Given the description of an element on the screen output the (x, y) to click on. 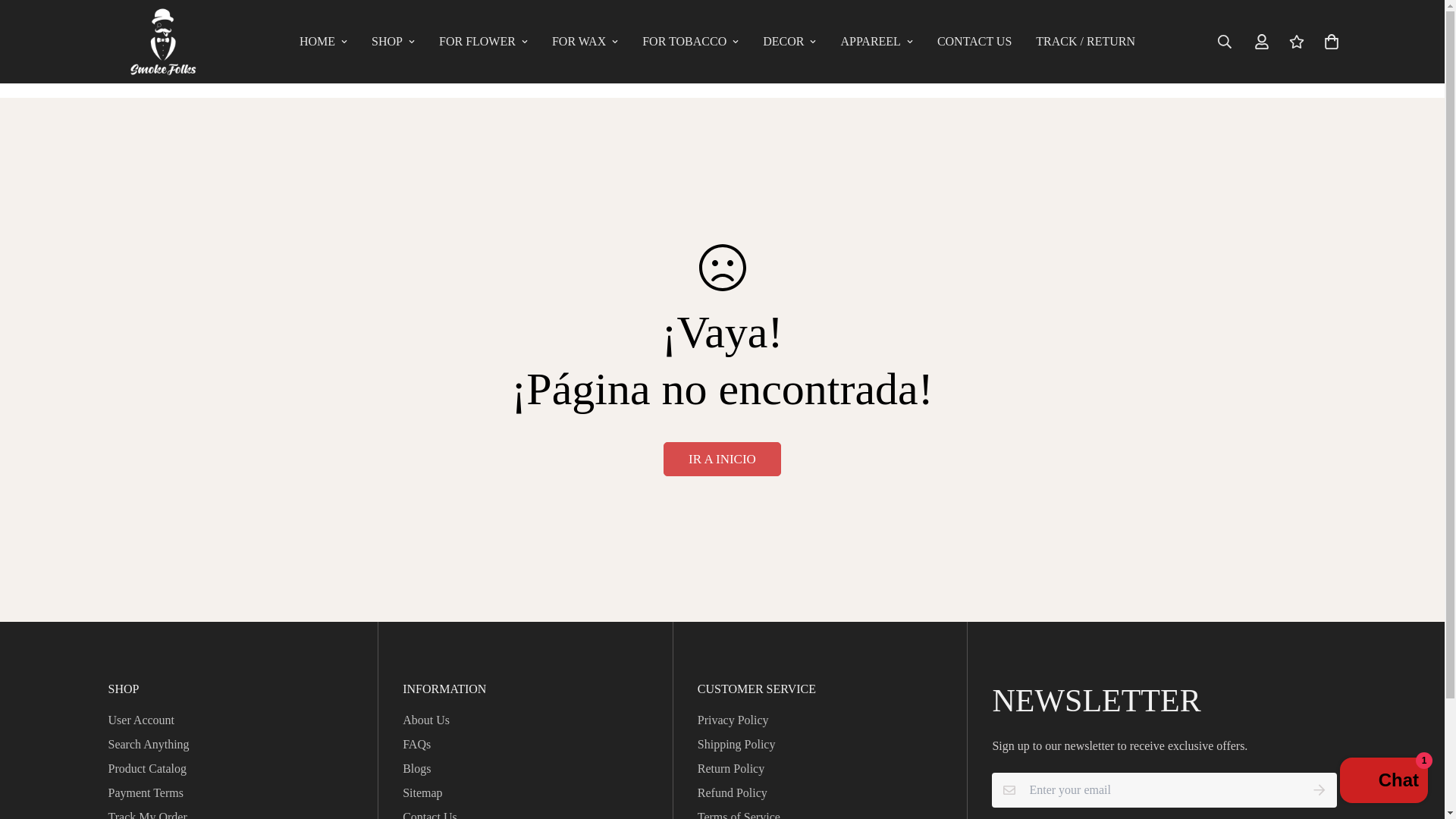
Smoke Folks (161, 41)
FOR FLOWER (483, 41)
FOR WAX (585, 41)
Chat de la tienda online Shopify (1383, 781)
SHOP (392, 41)
HOME (322, 41)
